Given the description of an element on the screen output the (x, y) to click on. 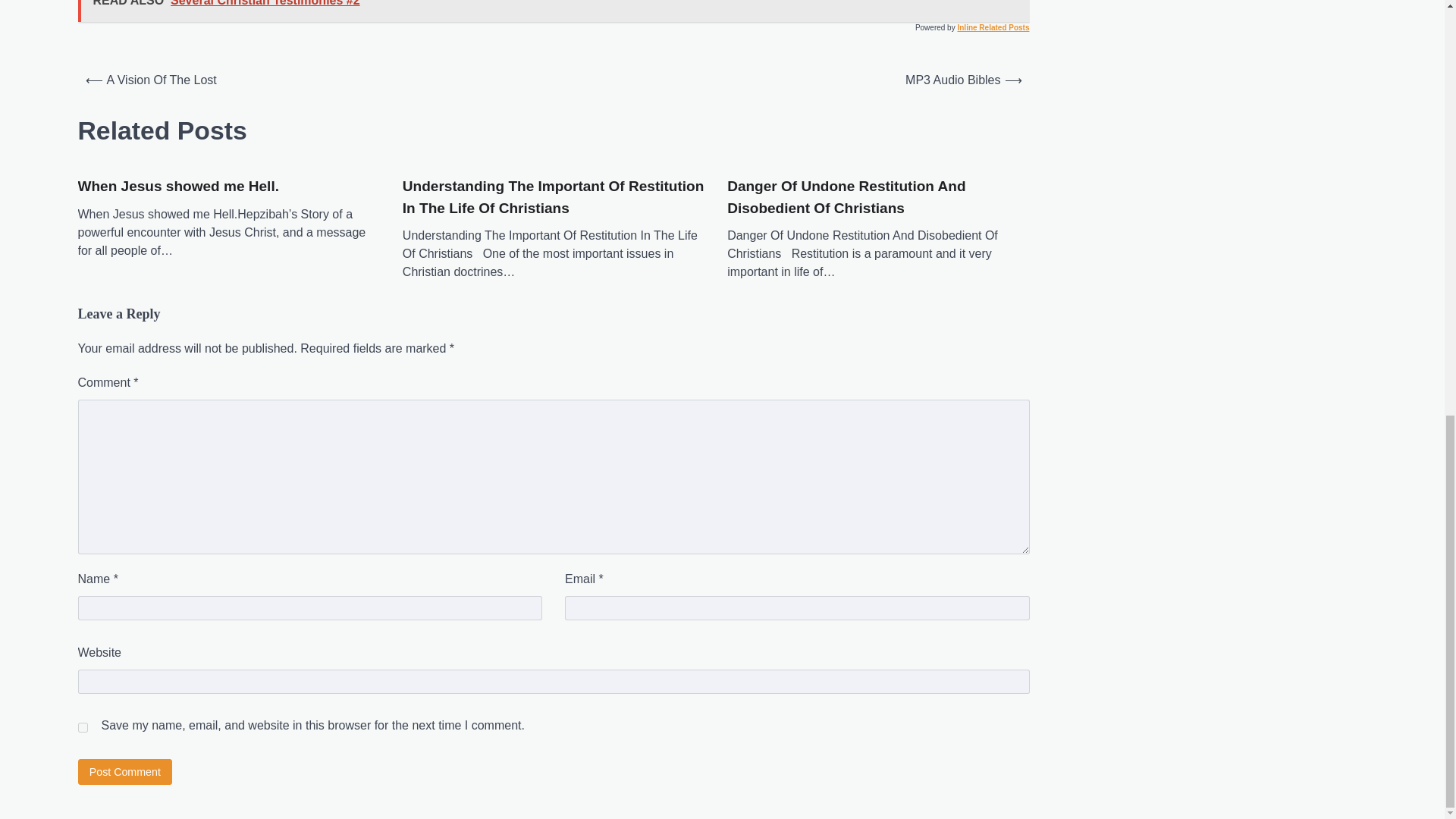
yes (82, 727)
Post Comment (124, 771)
